Given the description of an element on the screen output the (x, y) to click on. 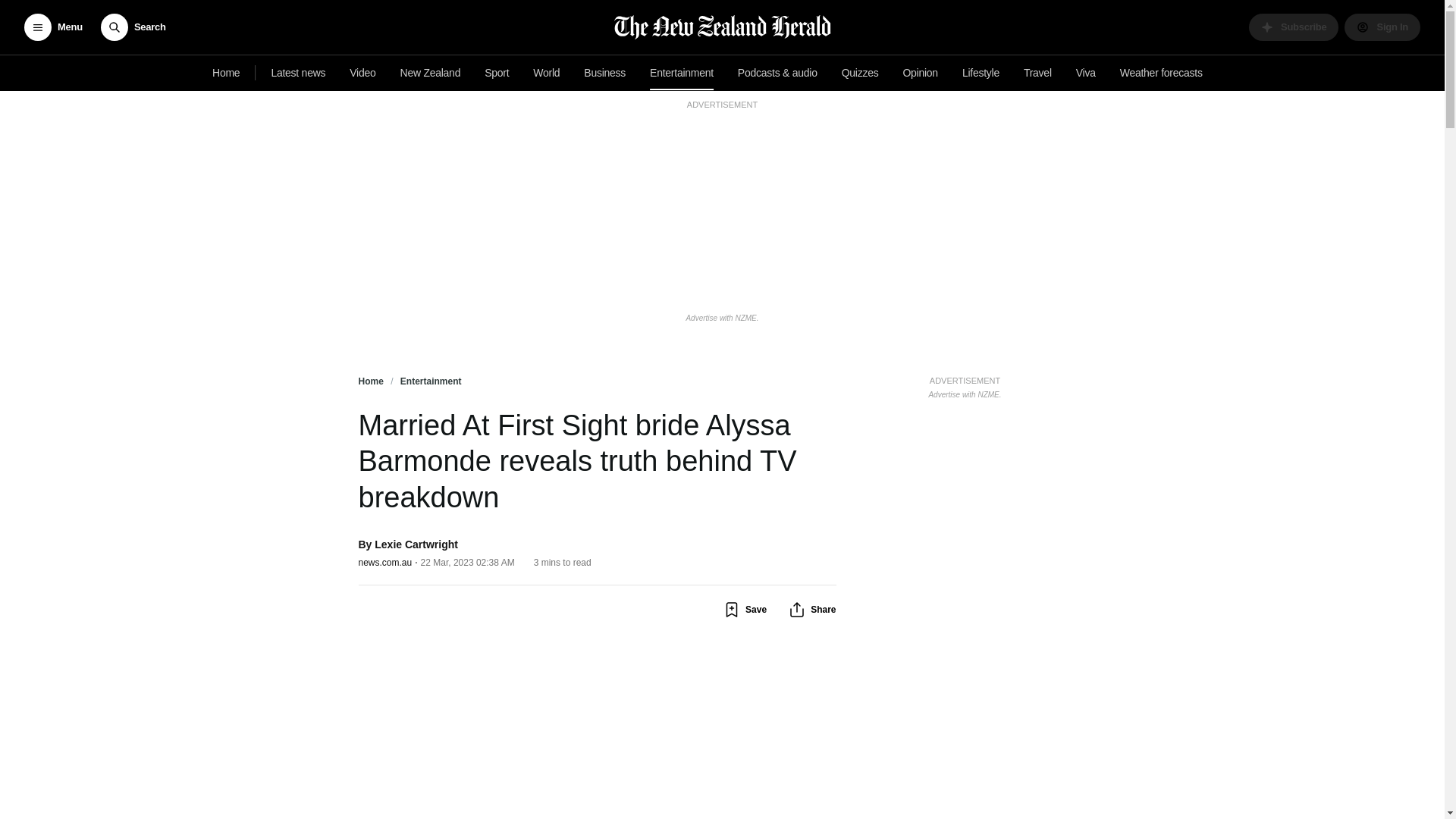
Weather forecasts (1160, 72)
Opinion (919, 72)
Business (604, 72)
Search (132, 26)
Travel (1037, 72)
Entertainment (681, 72)
Home (225, 72)
Menu (53, 26)
Quizzes (860, 72)
Video (362, 72)
